Given the description of an element on the screen output the (x, y) to click on. 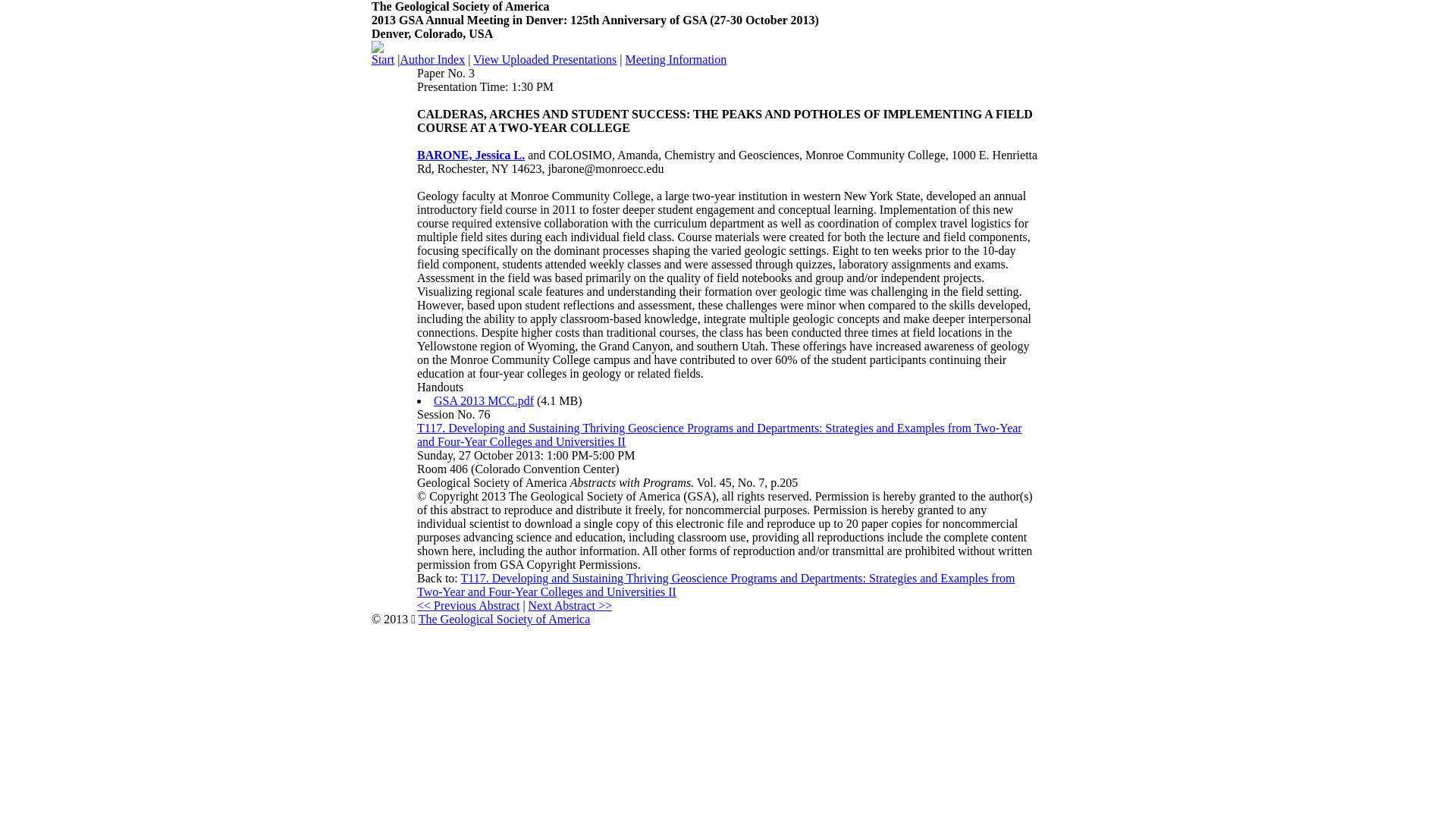
The Geological Society of America (505, 618)
View Uploaded Presentations (544, 59)
GSA 2013 MCC.pdf (483, 400)
BARONE, Jessica L. (470, 154)
Meeting Information (676, 59)
Start (382, 59)
Author Index (431, 59)
